Given the description of an element on the screen output the (x, y) to click on. 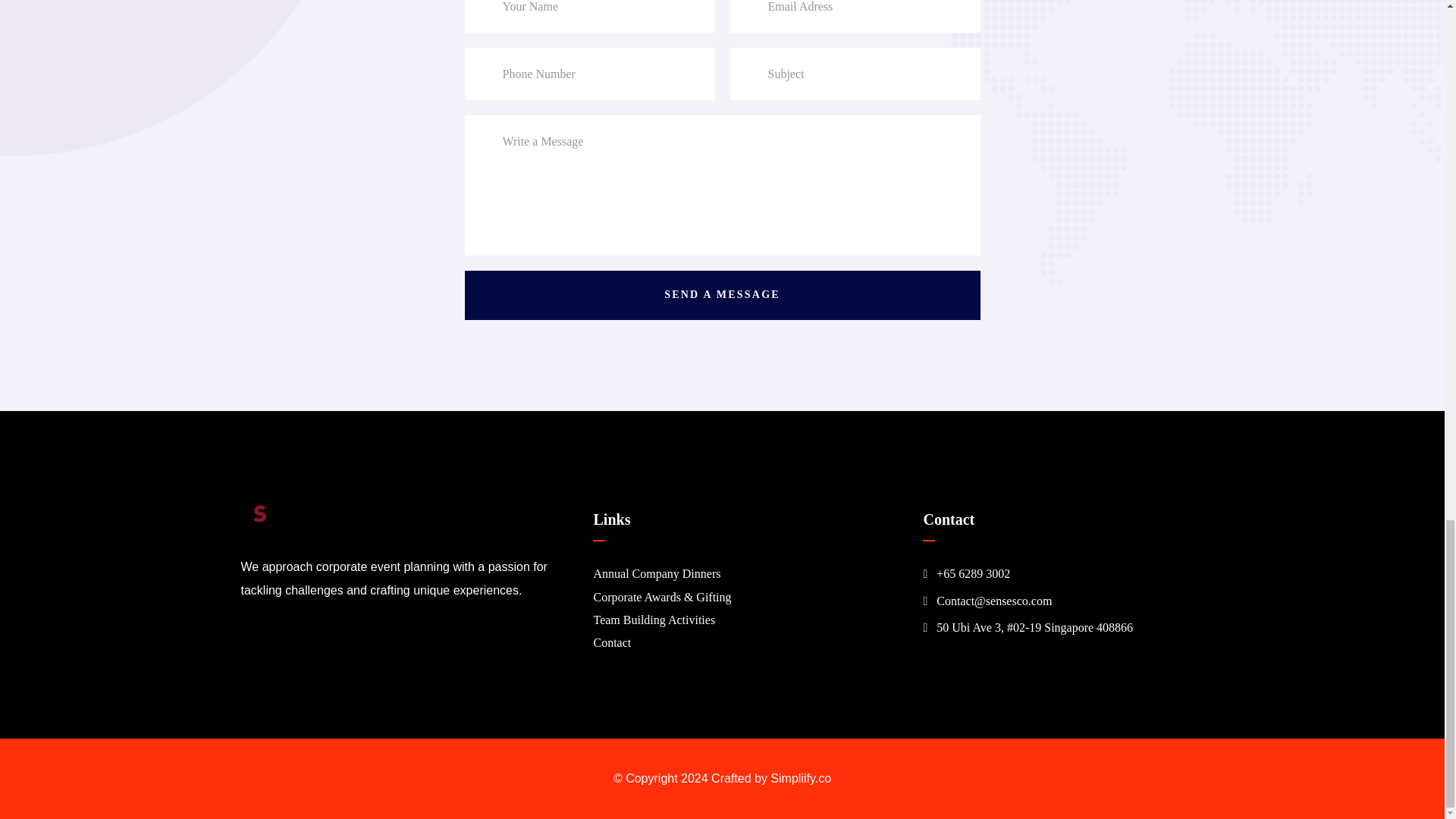
address (993, 600)
Send a message (721, 295)
Contact (611, 642)
Team Building Activities (653, 619)
Annual Company Dinners (656, 573)
Send a message (721, 295)
address (973, 573)
